Given the description of an element on the screen output the (x, y) to click on. 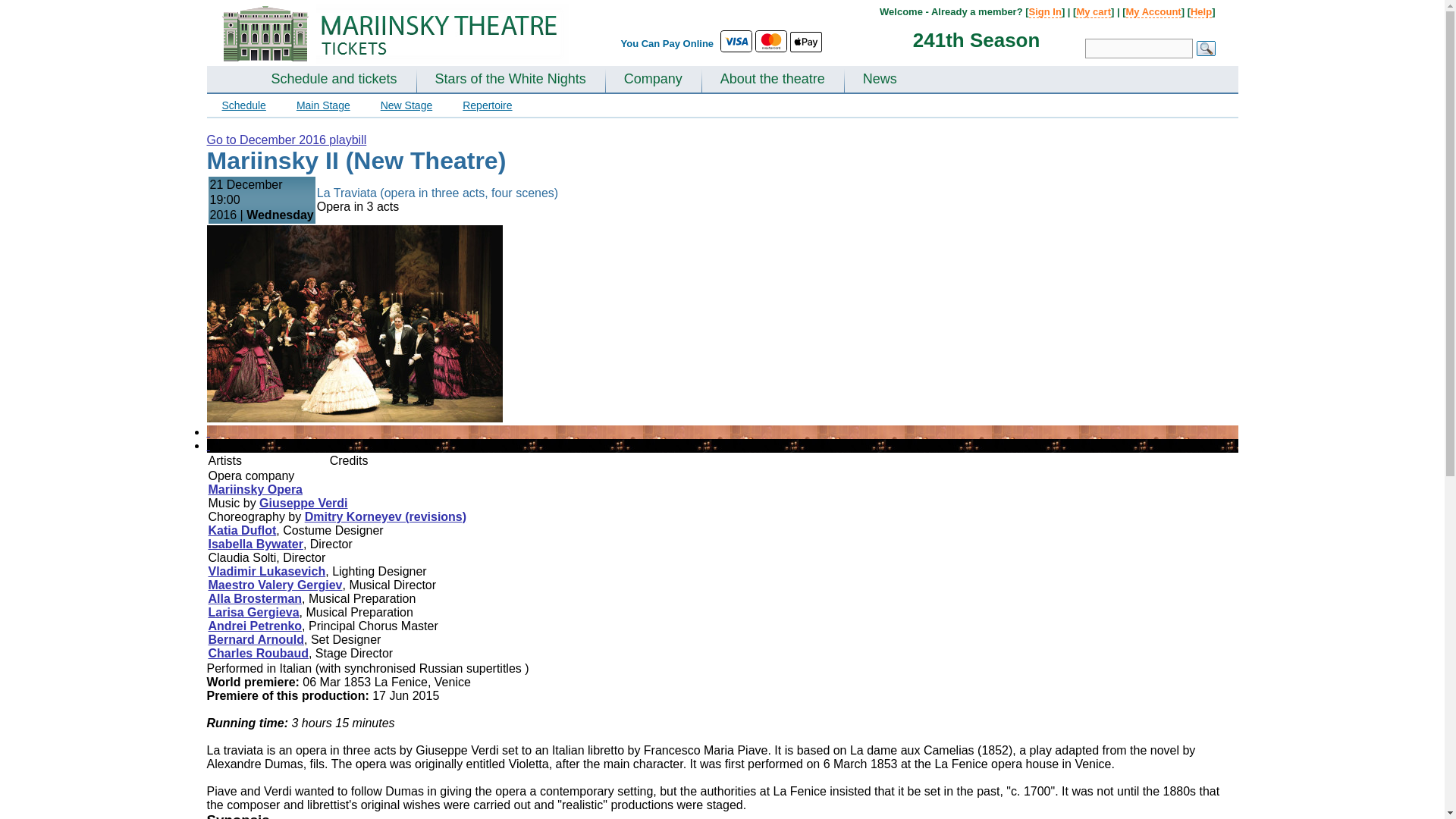
Giuseppe Verdi (303, 502)
Katia Duflot (242, 530)
Main Stage (323, 105)
Charles Roubaud (257, 653)
News (879, 80)
Help (1201, 11)
Schedule (243, 105)
Maestro Valery Gergiev (275, 584)
My Account (1152, 11)
Schedule and tickets (332, 80)
Stars of the White Nights (510, 80)
Sign In (1045, 11)
About the theatre (772, 80)
Isabella Bywater (255, 543)
